Given the description of an element on the screen output the (x, y) to click on. 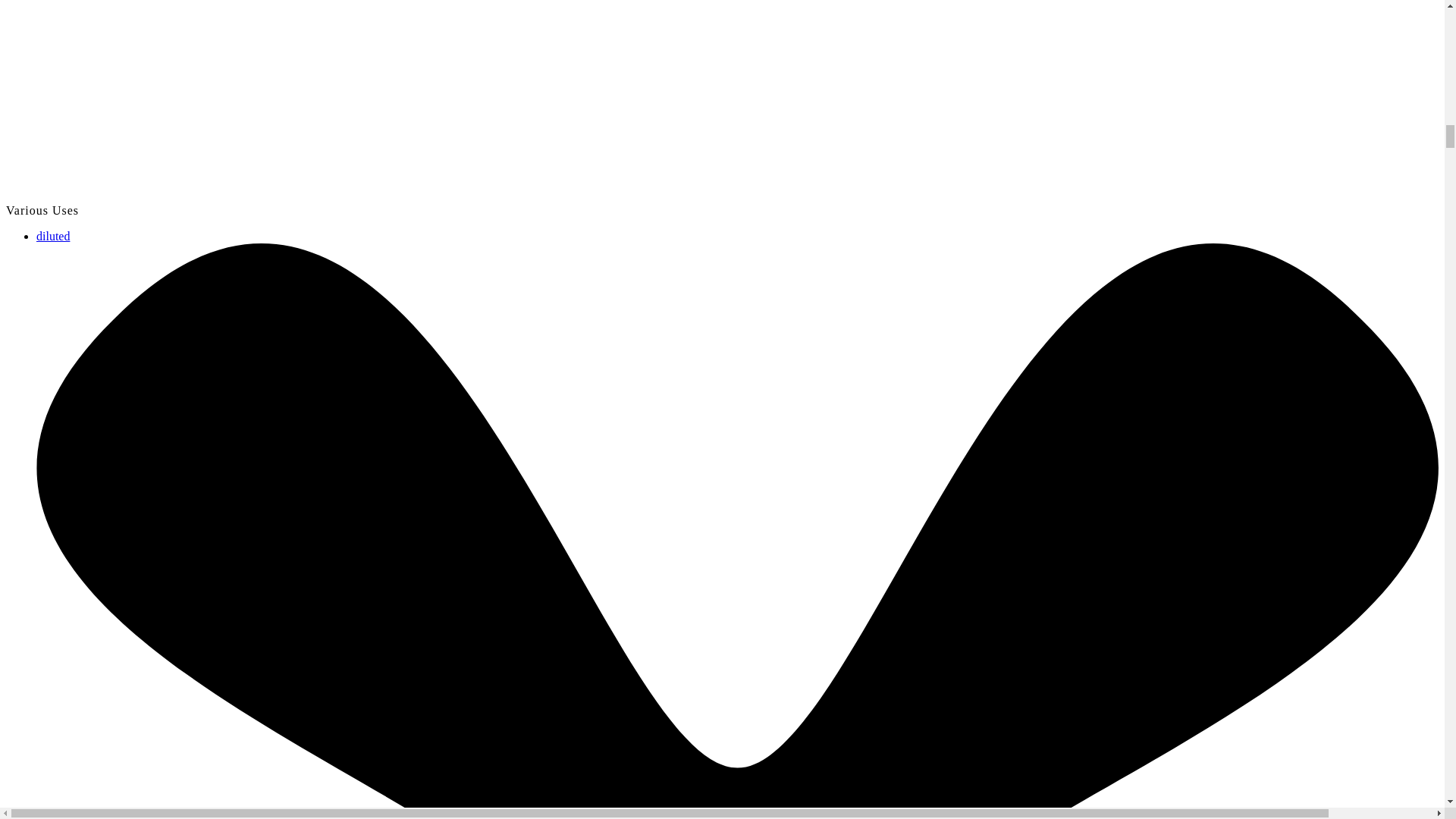
diluted (52, 236)
